Given the description of an element on the screen output the (x, y) to click on. 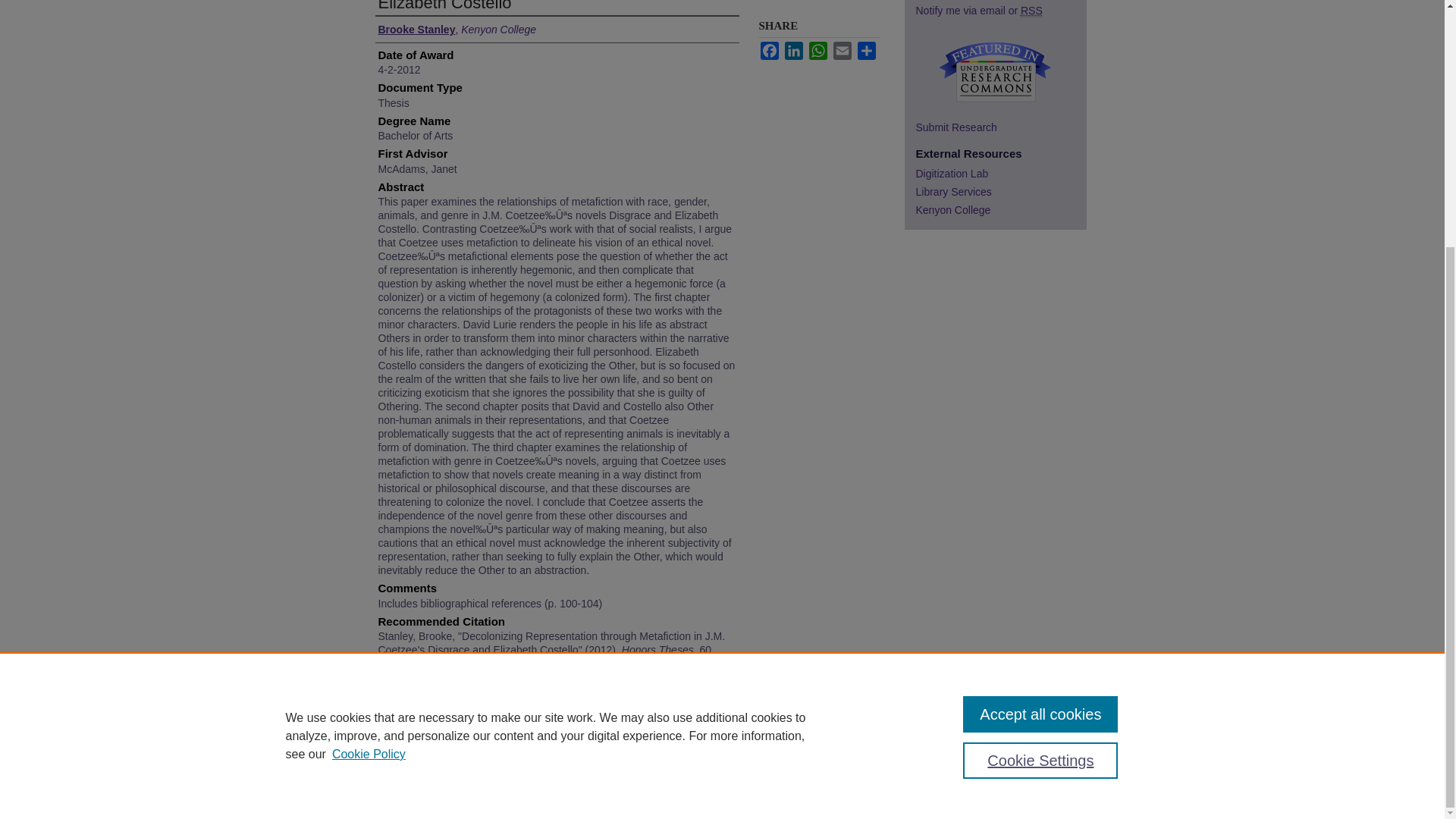
WhatsApp (817, 50)
Notify me via email or RSS (1000, 10)
Facebook (768, 50)
Really Simple Syndication (1031, 10)
Kenyon College (1000, 209)
Share (866, 50)
Undergraduate Research Commons (994, 71)
Submit Research (1000, 127)
Email (841, 50)
Library Services (1000, 191)
Email or RSS Notifications (1000, 10)
Undergraduate Research Commons (994, 71)
Brooke Stanley, Kenyon College (456, 29)
Digitization Lab (1000, 173)
